Given the description of an element on the screen output the (x, y) to click on. 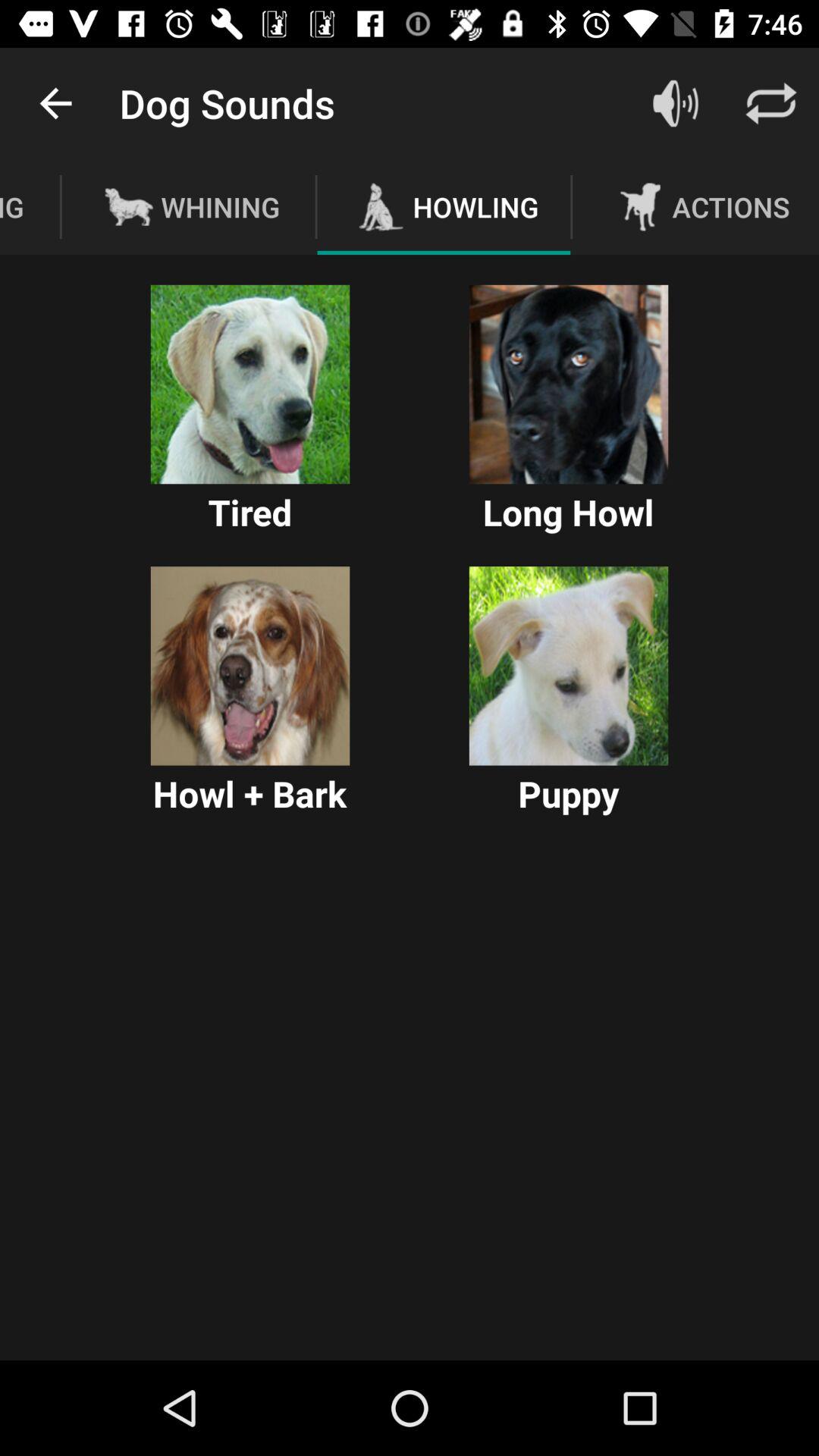
make selection (249, 665)
